Given the description of an element on the screen output the (x, y) to click on. 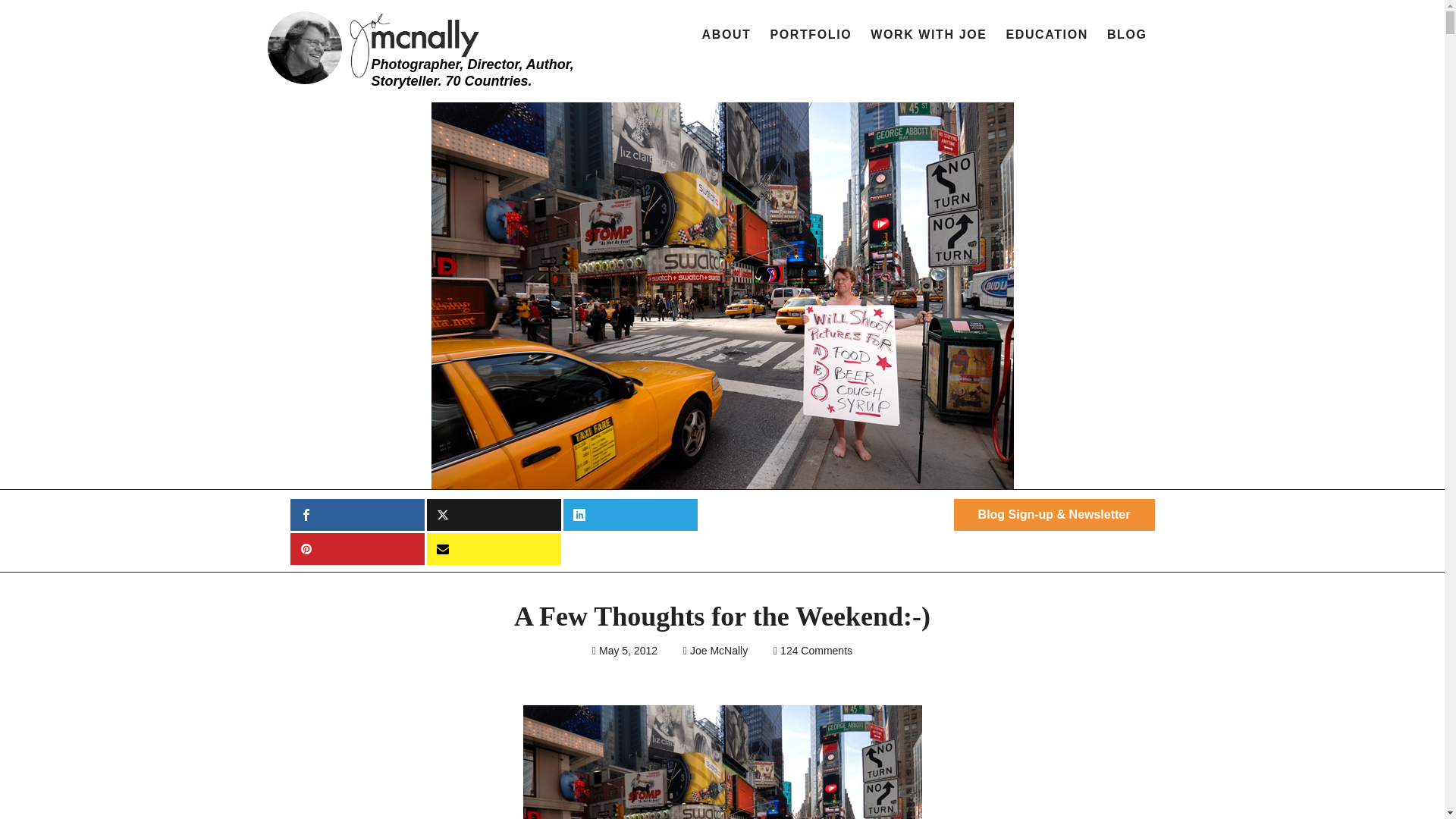
Joe McNally (719, 650)
WORK WITH JOE (928, 35)
Pinterest (356, 549)
joe mcnally photography (424, 45)
124 Comments (815, 650)
Linkedin (629, 514)
EDUCATION (1046, 35)
BLOG (1126, 35)
Subscribe (493, 549)
Facebook (356, 514)
ABOUT (726, 35)
PORTFOLIO (810, 35)
joetimessquare (721, 762)
Twitter (493, 514)
